Given the description of an element on the screen output the (x, y) to click on. 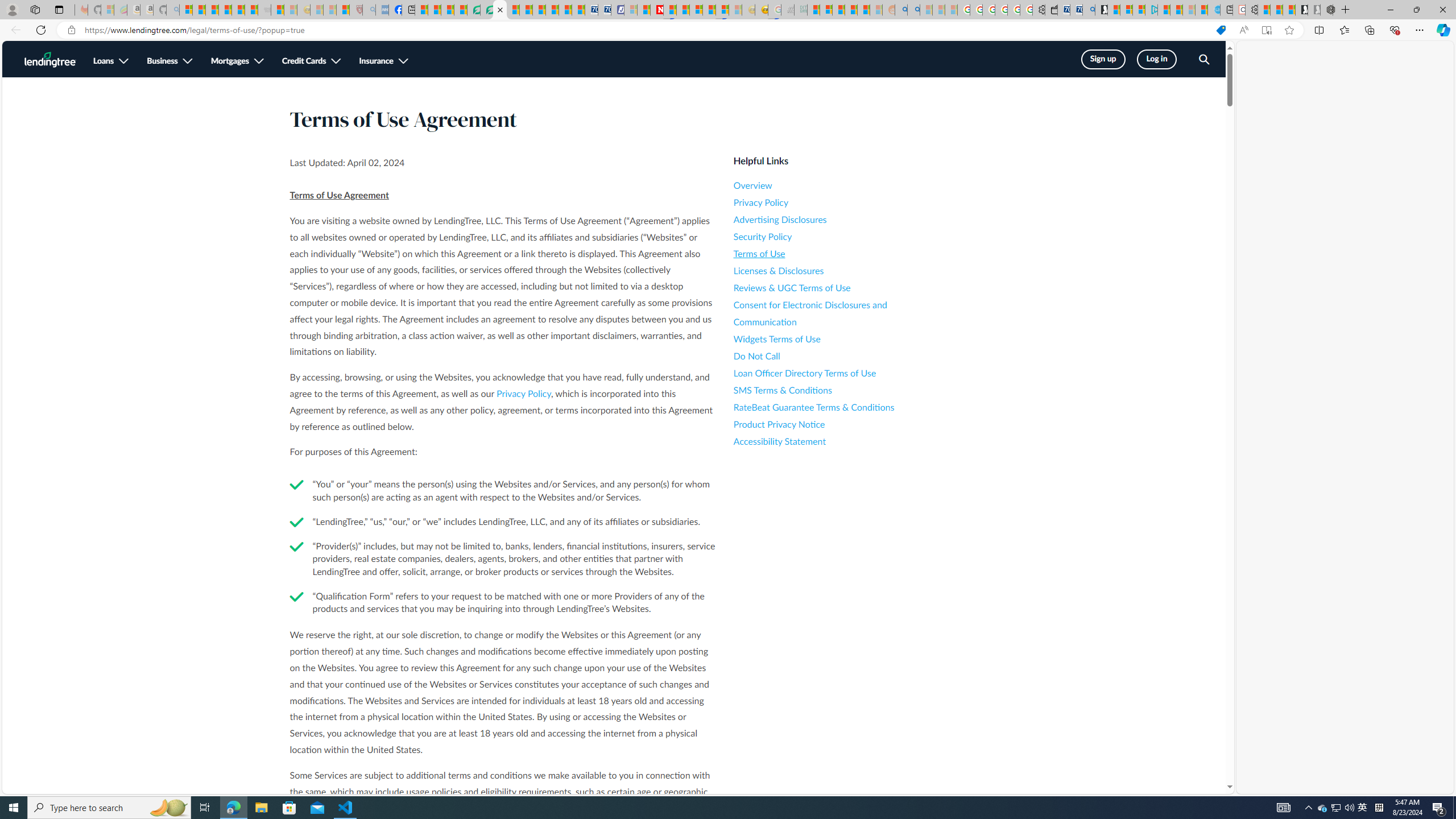
Search LendingTree (1203, 60)
SMS Terms & Conditions (836, 390)
Combat Siege - Sleeping (264, 9)
Insurance, see more (383, 61)
Licenses & Disclosures (836, 271)
